Given the description of an element on the screen output the (x, y) to click on. 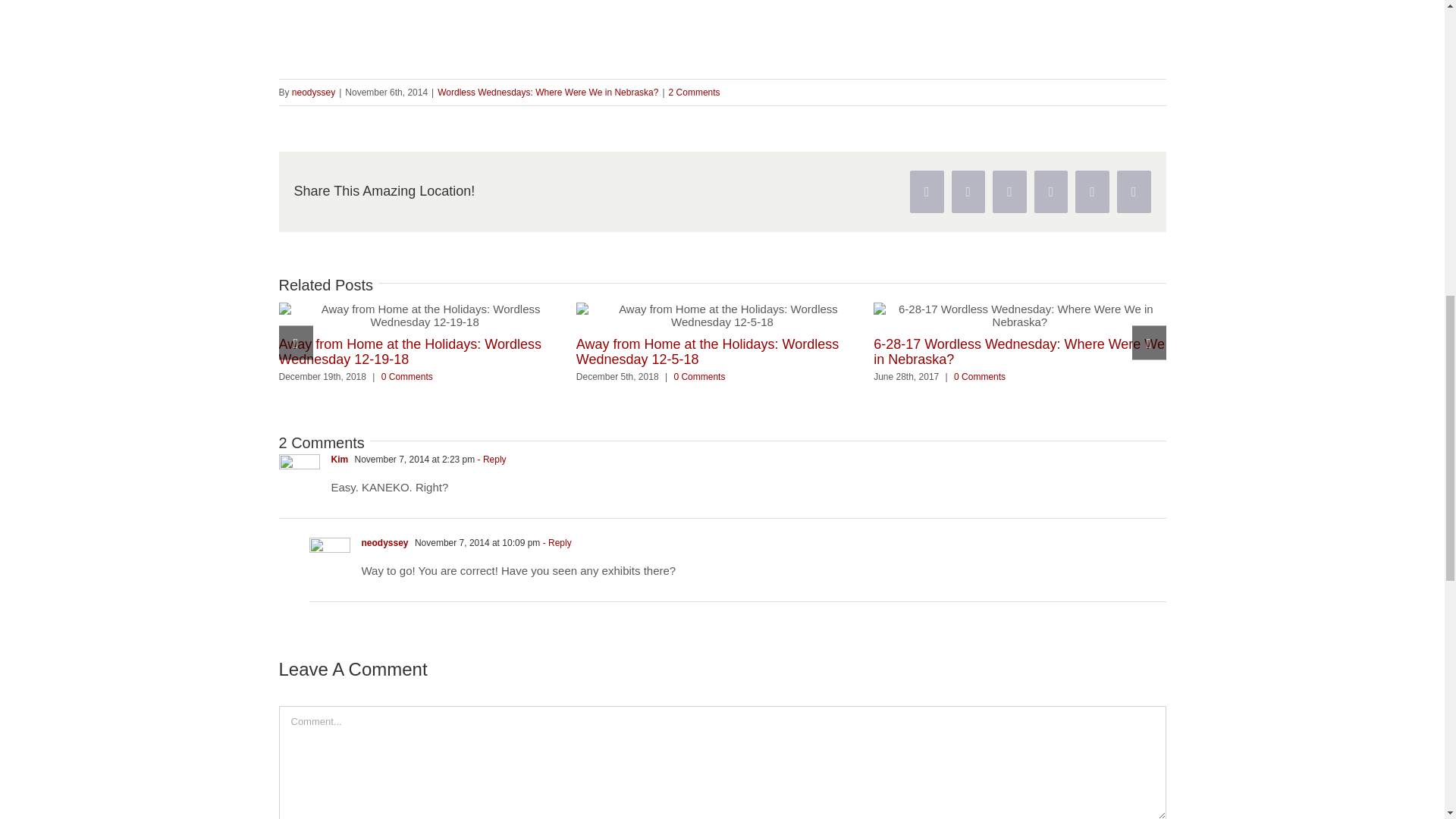
Away from Home at the Holidays: Wordless Wednesday 12-5-18 (707, 351)
Away from Home at the Holidays: Wordless Wednesday 12-19-18 (410, 351)
6-28-17 Wordless Wednesday: Where Were We in Nebraska? (1018, 351)
Posts by neodyssey (313, 91)
